Given the description of an element on the screen output the (x, y) to click on. 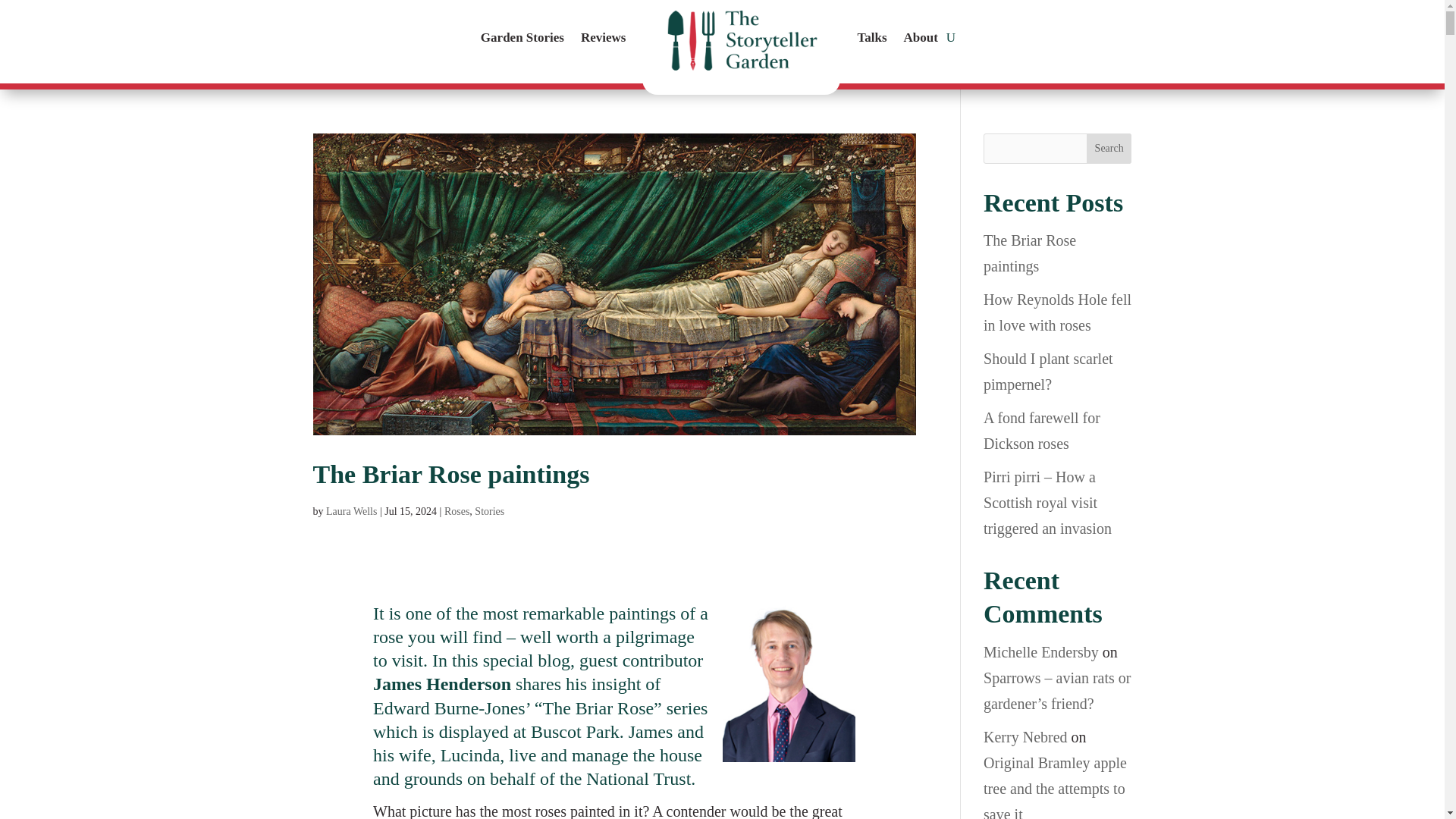
Posts by Laura Wells (351, 511)
The Briar Rose paintings (451, 474)
Laura Wells (351, 511)
Stories (488, 511)
Garden Stories (522, 41)
Roses (456, 511)
